Given the description of an element on the screen output the (x, y) to click on. 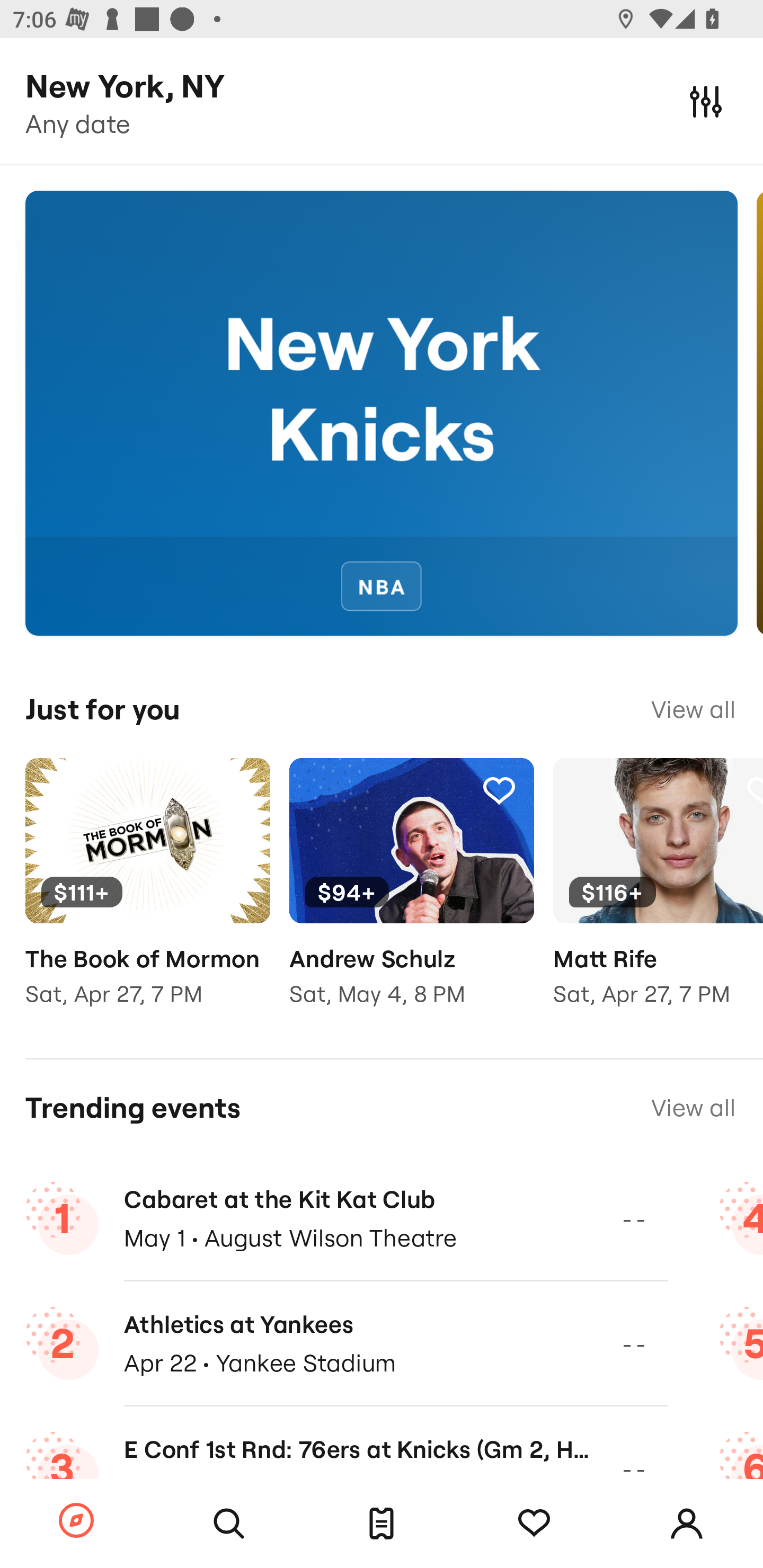
Filters (705, 100)
View all (693, 709)
Tracking $94+ Andrew Schulz Sat, May 4, 8 PM (411, 895)
Tracking $116+ Matt Rife Sat, Apr 27, 7 PM (658, 895)
Tracking (234, 790)
Tracking (498, 790)
View all (693, 1108)
Browse (76, 1521)
Search (228, 1523)
Tickets (381, 1523)
Tracking (533, 1523)
Account (686, 1523)
